Given the description of an element on the screen output the (x, y) to click on. 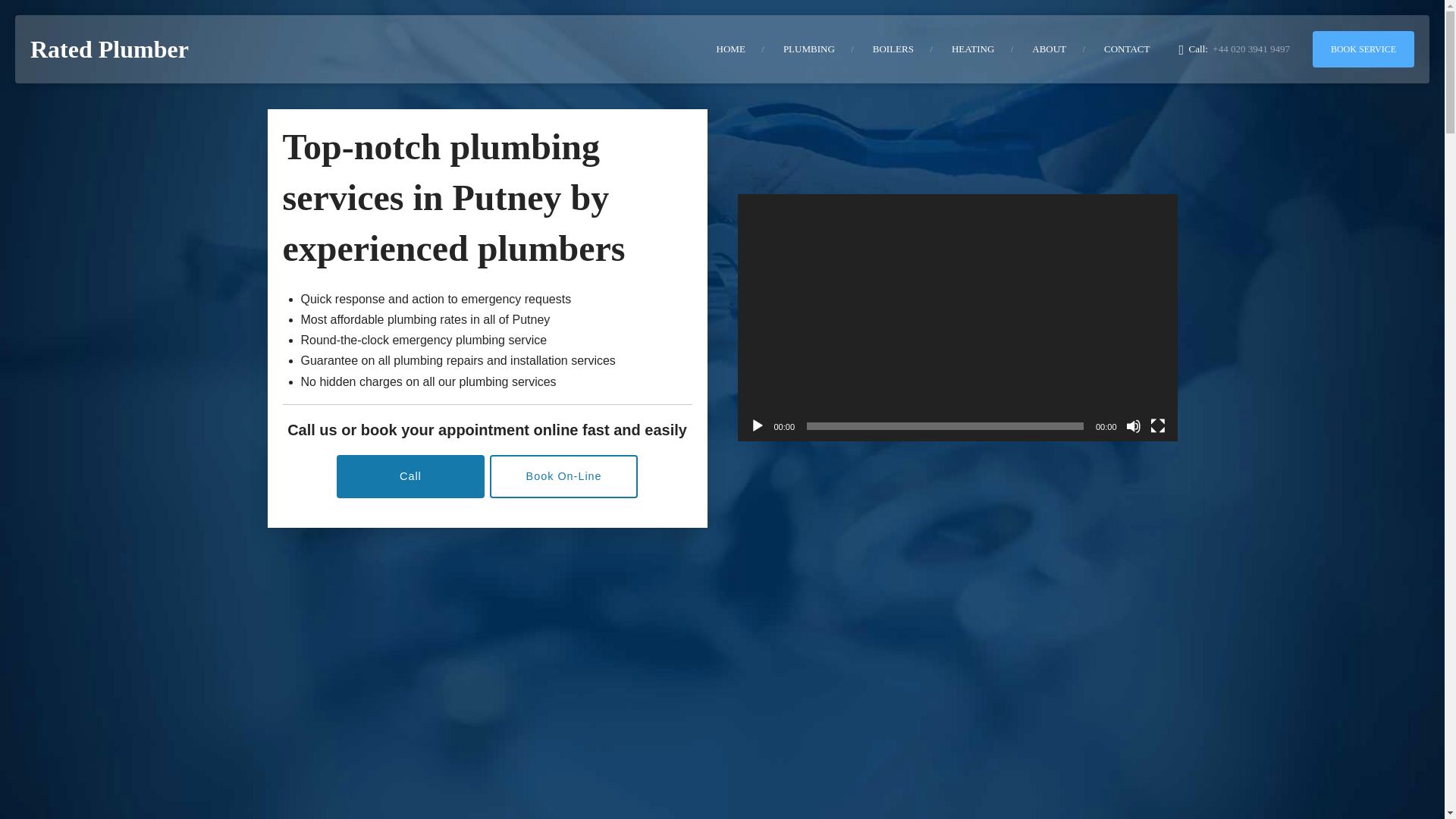
CONTACT (1126, 49)
Rated Plumber (109, 49)
Book On-Line (563, 476)
Call  (410, 476)
Fullscreen (1157, 426)
Call (410, 476)
HEATING (973, 49)
Play (756, 426)
HOME (730, 49)
Book On-Line (563, 476)
Mute (1132, 426)
BOILERS (893, 49)
ABOUT (1048, 49)
BOOK SERVICE (1363, 49)
PLUMBING (808, 49)
